Given the description of an element on the screen output the (x, y) to click on. 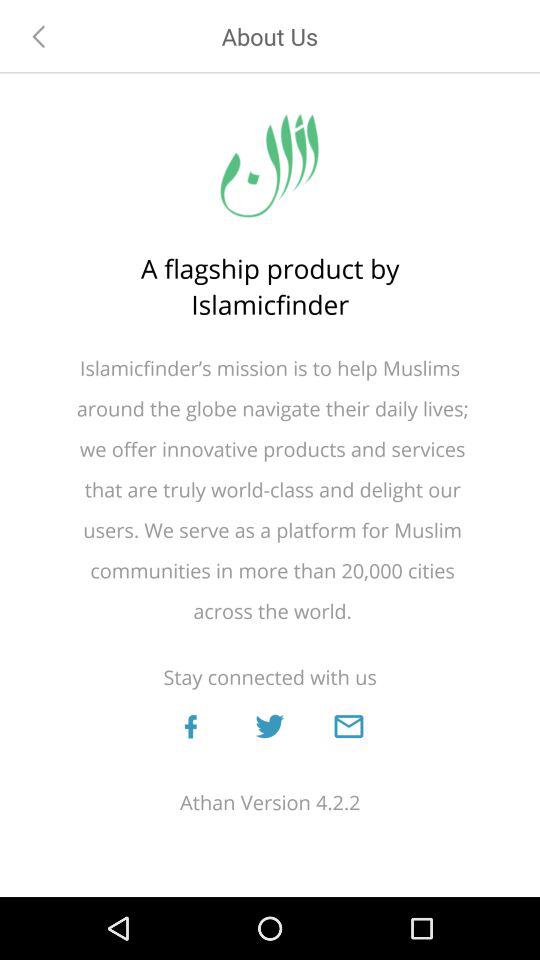
click for facebook (190, 726)
